Given the description of an element on the screen output the (x, y) to click on. 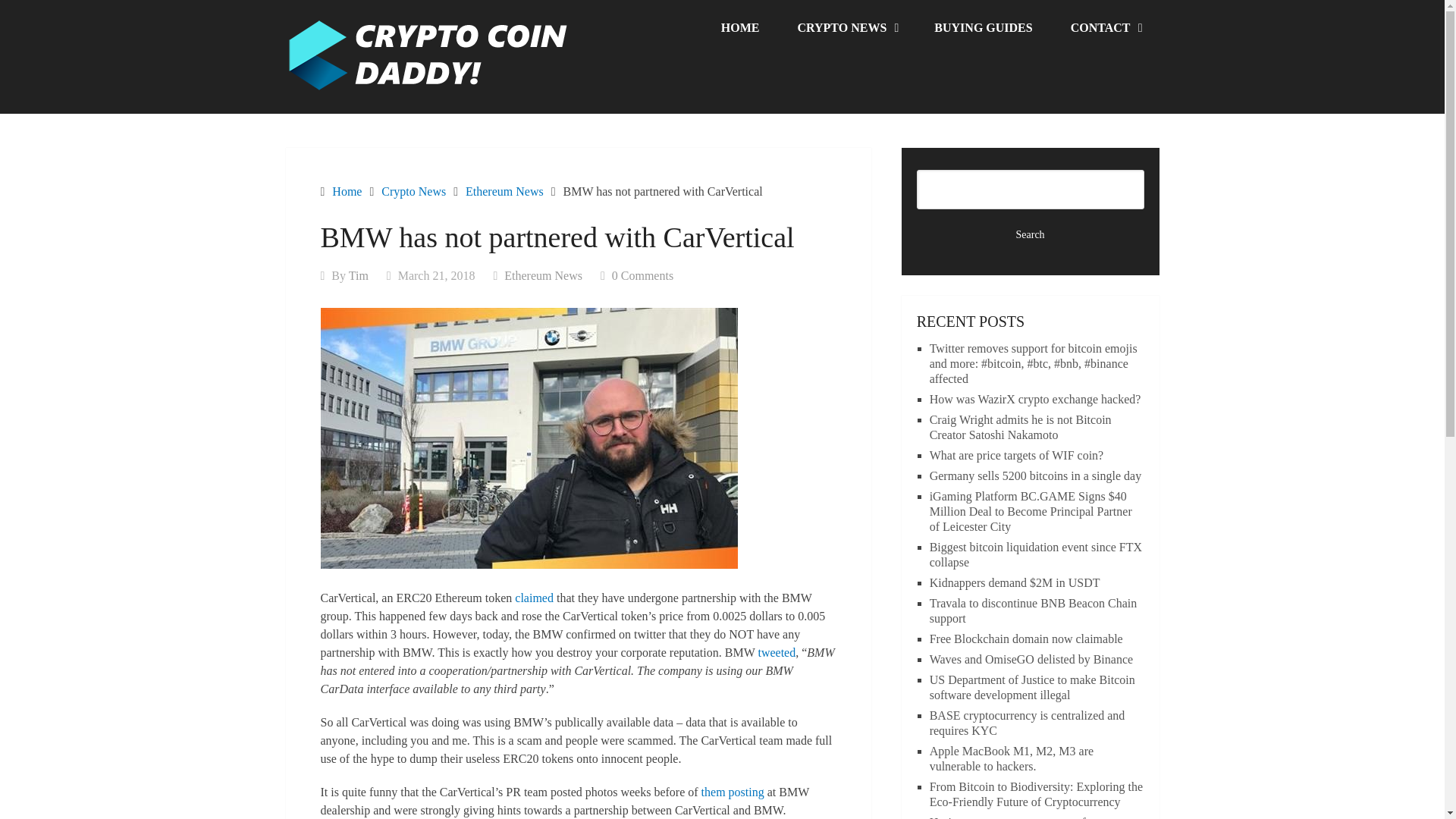
carvertical bmw lies (528, 437)
them posting (732, 791)
claimed (534, 597)
Search (1030, 235)
Home (346, 191)
HOME (739, 28)
Ethereum News (504, 191)
0 Comments (641, 275)
BUYING GUIDES (983, 28)
How was WazirX crypto exchange hacked? (1035, 399)
Free Blockchain domain now claimable (1026, 638)
Germany sells 5200 bitcoins in a single day (1035, 475)
tweeted (775, 652)
